Given the description of an element on the screen output the (x, y) to click on. 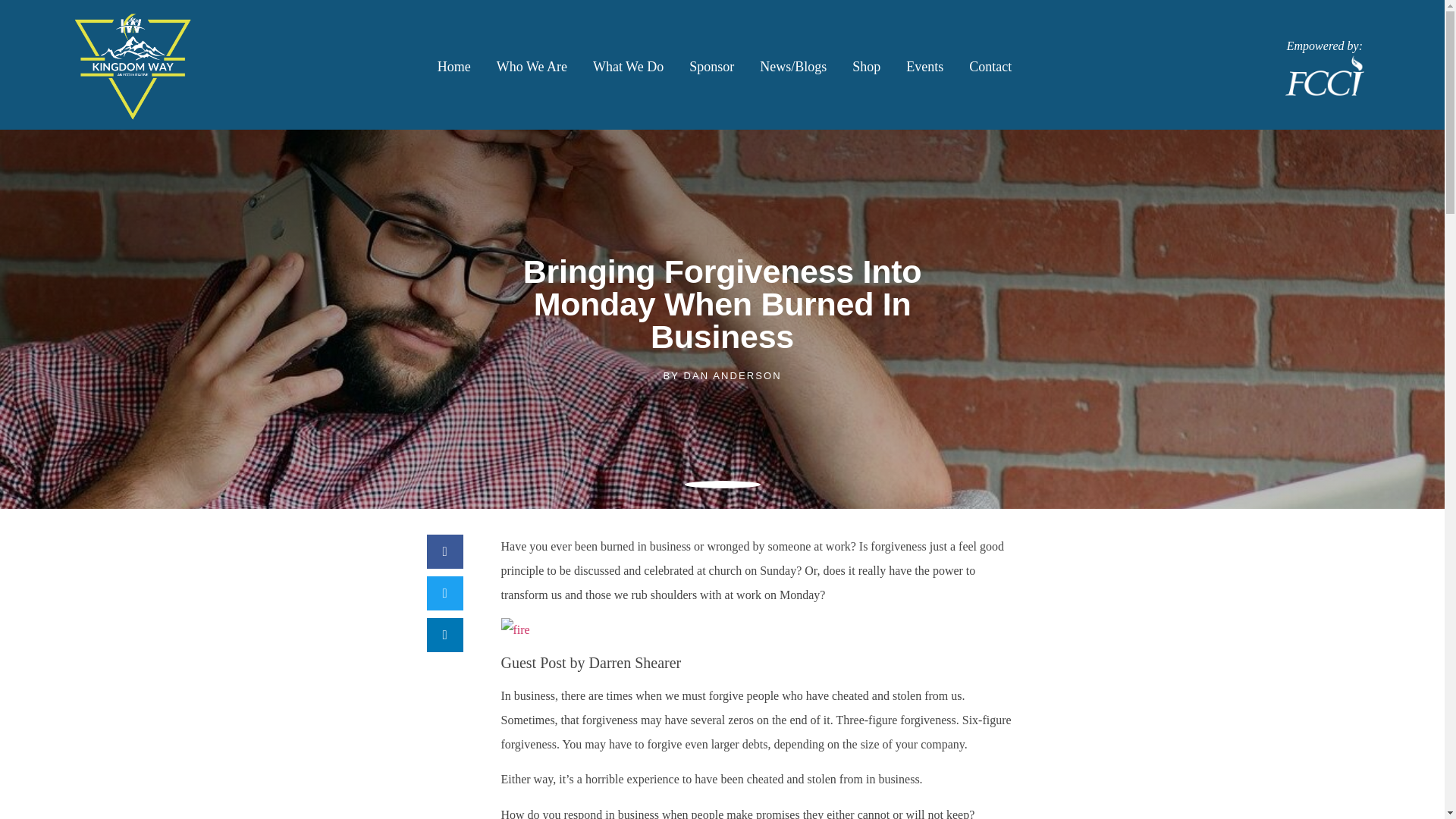
What We Do (628, 66)
Contact (990, 66)
BY DAN ANDERSON (721, 376)
Who We Are (531, 66)
Sponsor (711, 66)
Shop (866, 66)
Events (924, 66)
What we do (628, 66)
Home (454, 66)
